Given the description of an element on the screen output the (x, y) to click on. 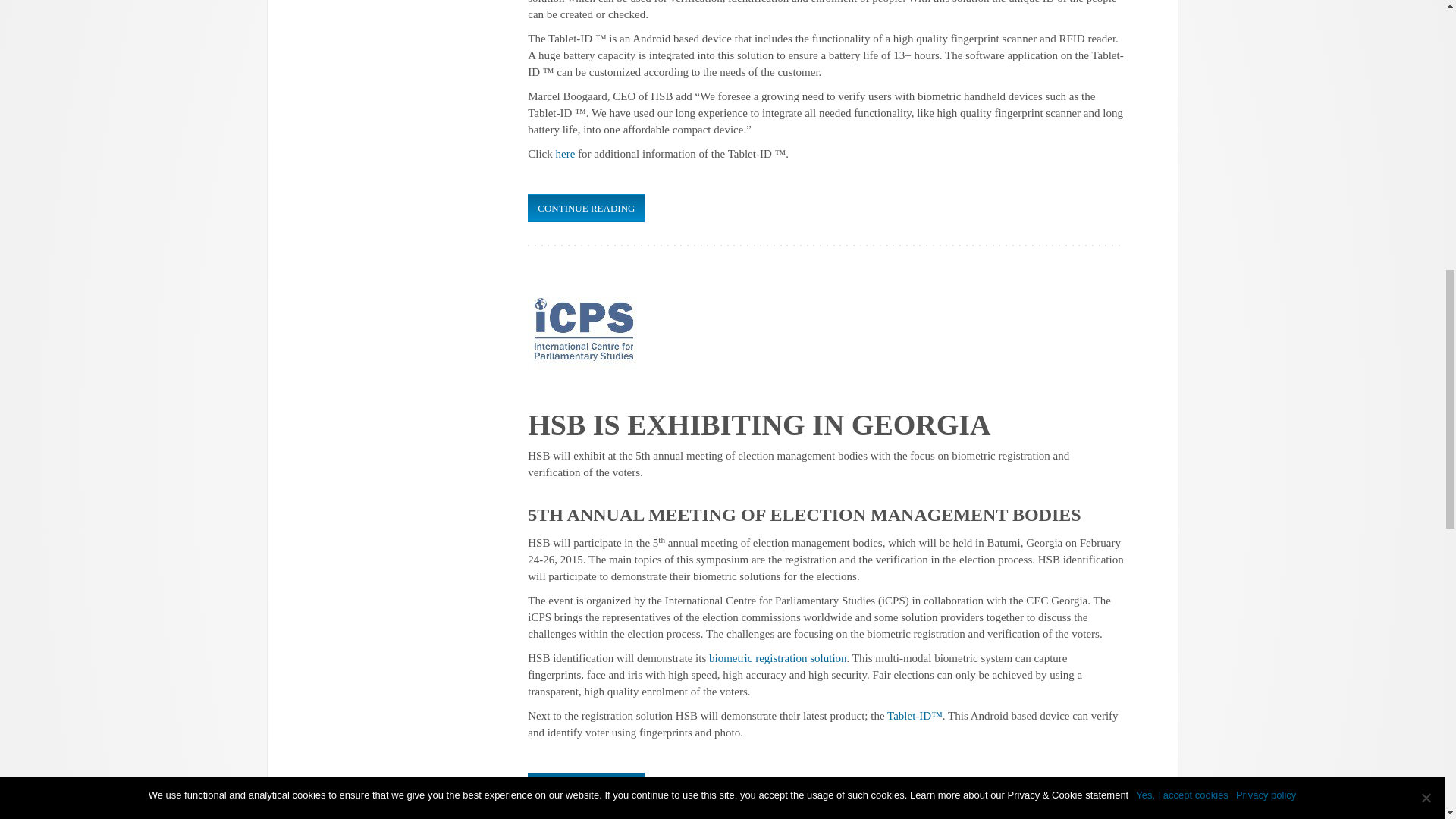
Enrolment (778, 657)
Tablet ID (564, 153)
HSB is Exhibiting in Georgia (584, 328)
HSB is Exhibiting in Georgia (586, 786)
here (564, 153)
Tablet ID (914, 715)
HSB is Exhibiting in Georgia (758, 424)
